Given the description of an element on the screen output the (x, y) to click on. 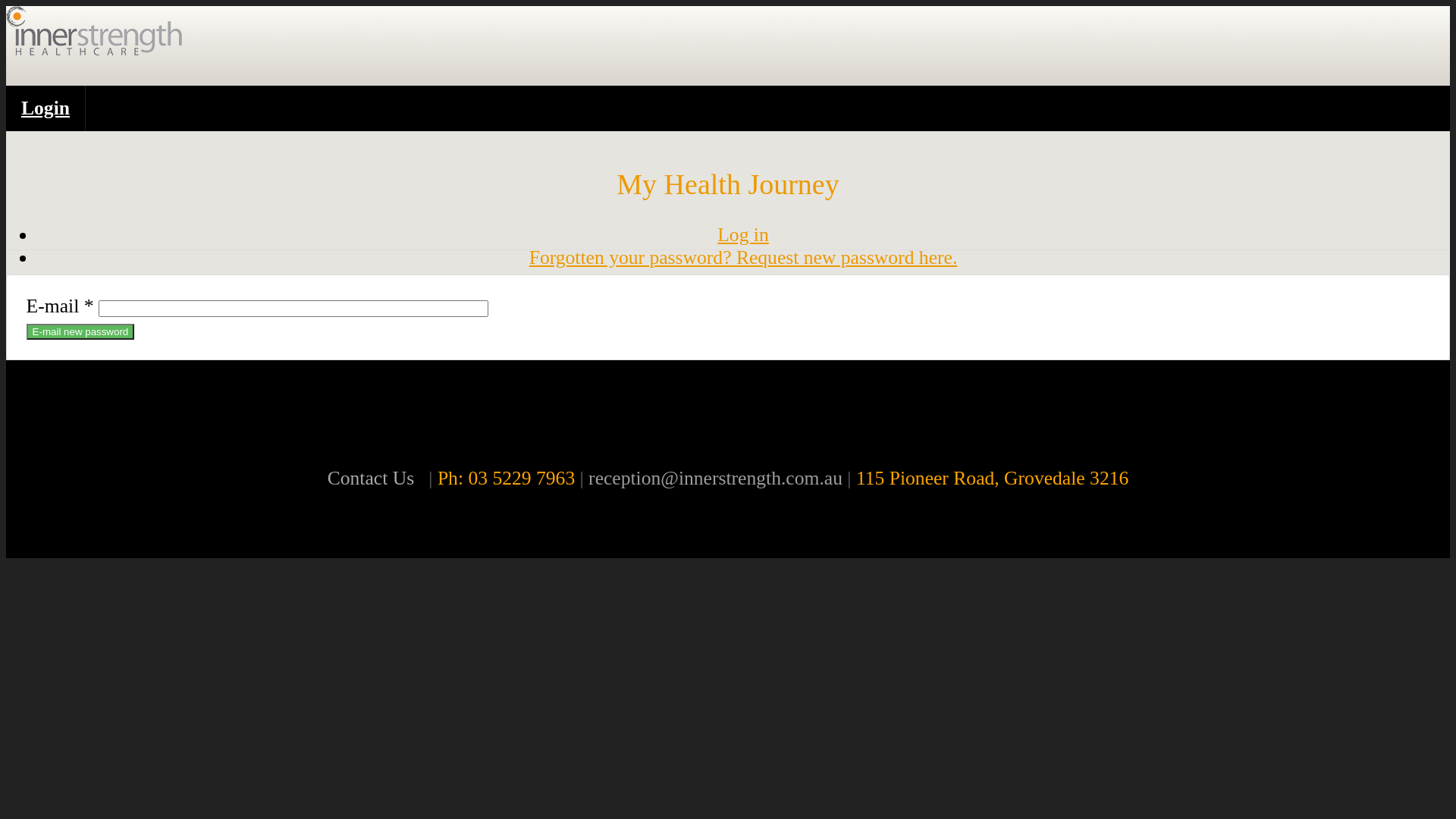
E-mail new password Element type: text (80, 331)
reception@innerstrength.com.au Element type: text (715, 478)
Login Element type: text (45, 108)
Log in Element type: text (742, 234)
